Given the description of an element on the screen output the (x, y) to click on. 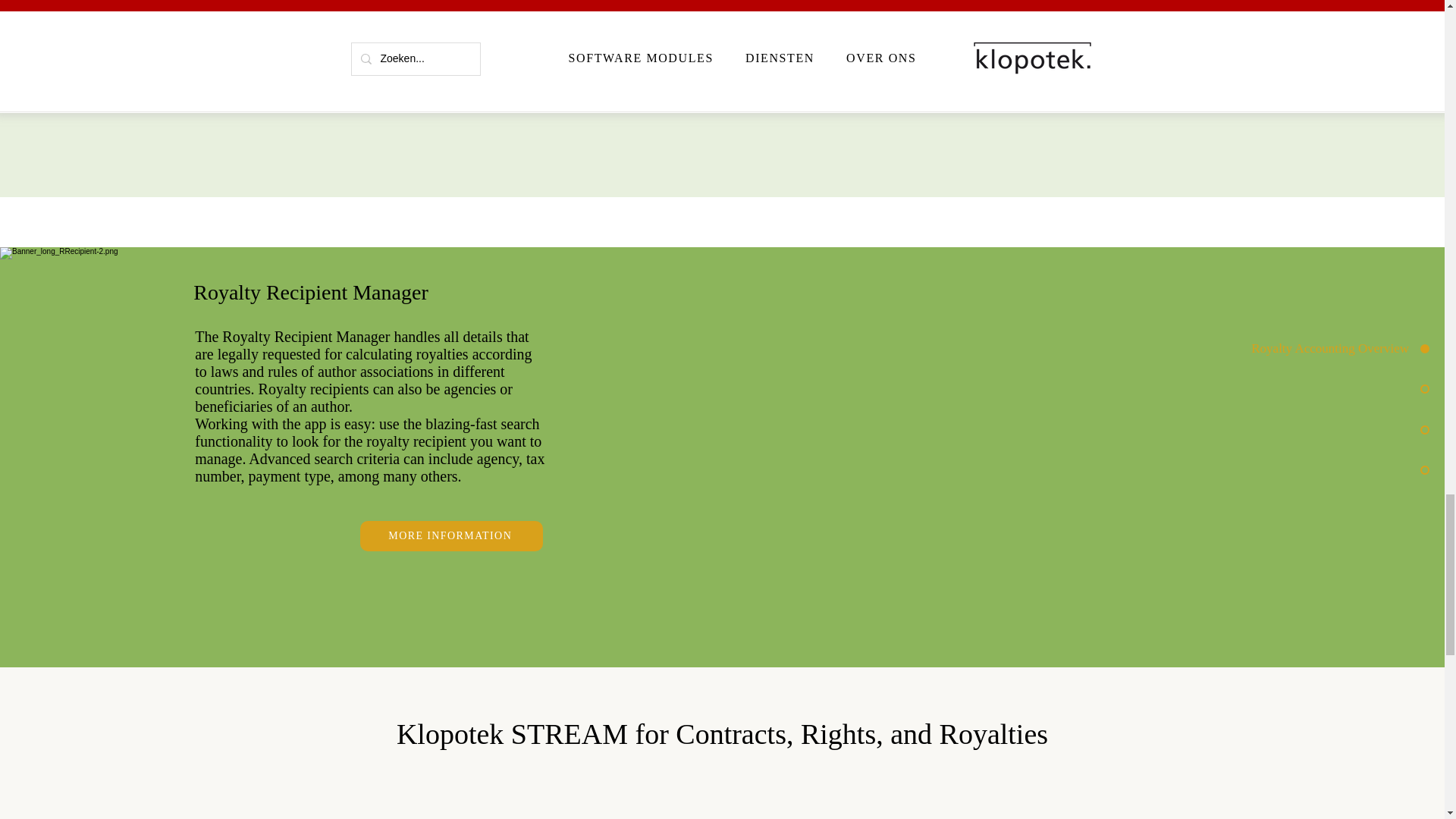
PRODUCT FLYER (1196, 52)
MORE INFORMATION (451, 535)
